Given the description of an element on the screen output the (x, y) to click on. 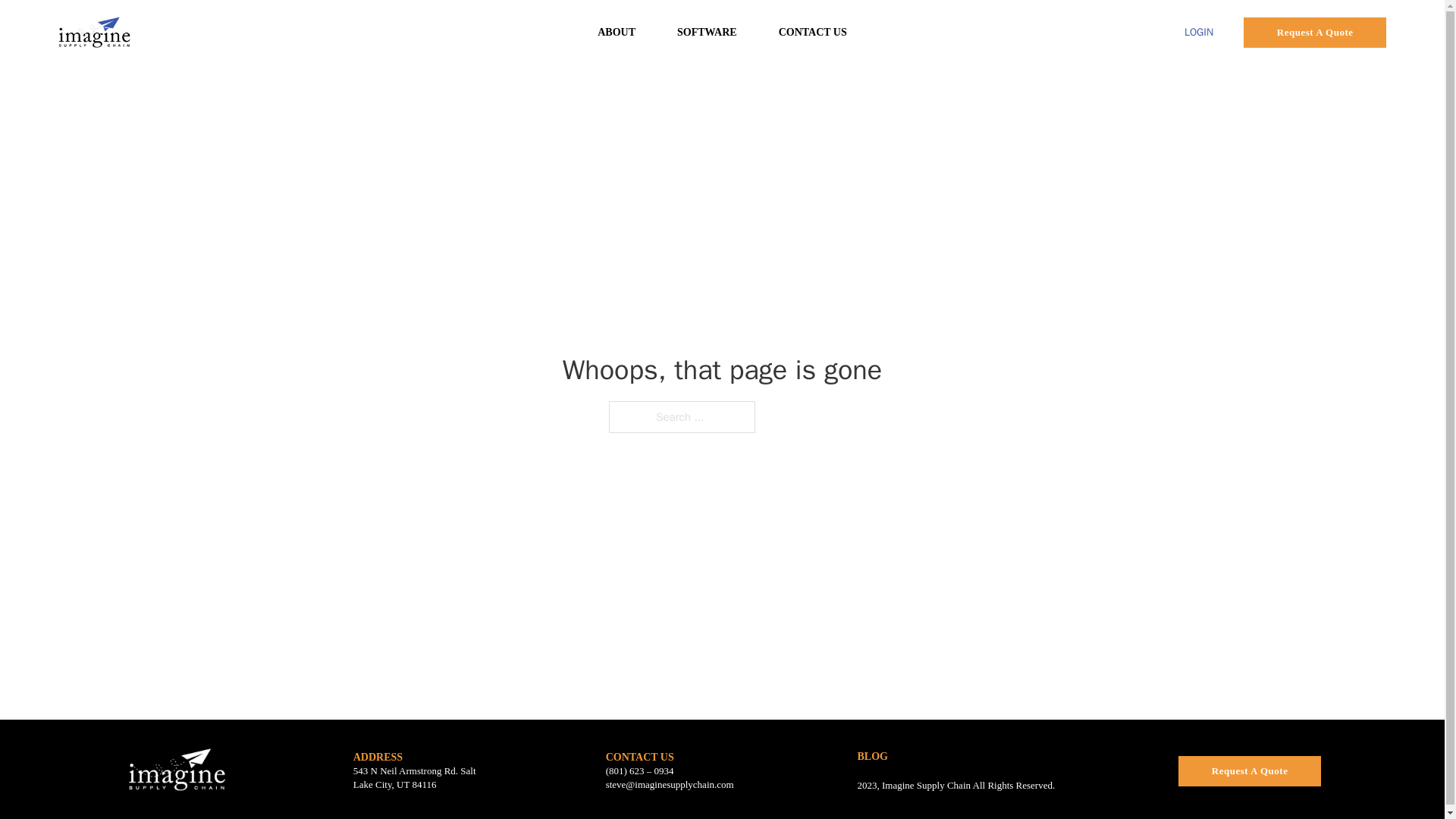
CONTACT US (639, 757)
CONTACT US (812, 32)
BLOG (872, 756)
ABOUT (615, 32)
Request A Quote (1248, 770)
Request A Quote (1314, 31)
LOGIN (1198, 32)
SOFTWARE (706, 32)
